Given the description of an element on the screen output the (x, y) to click on. 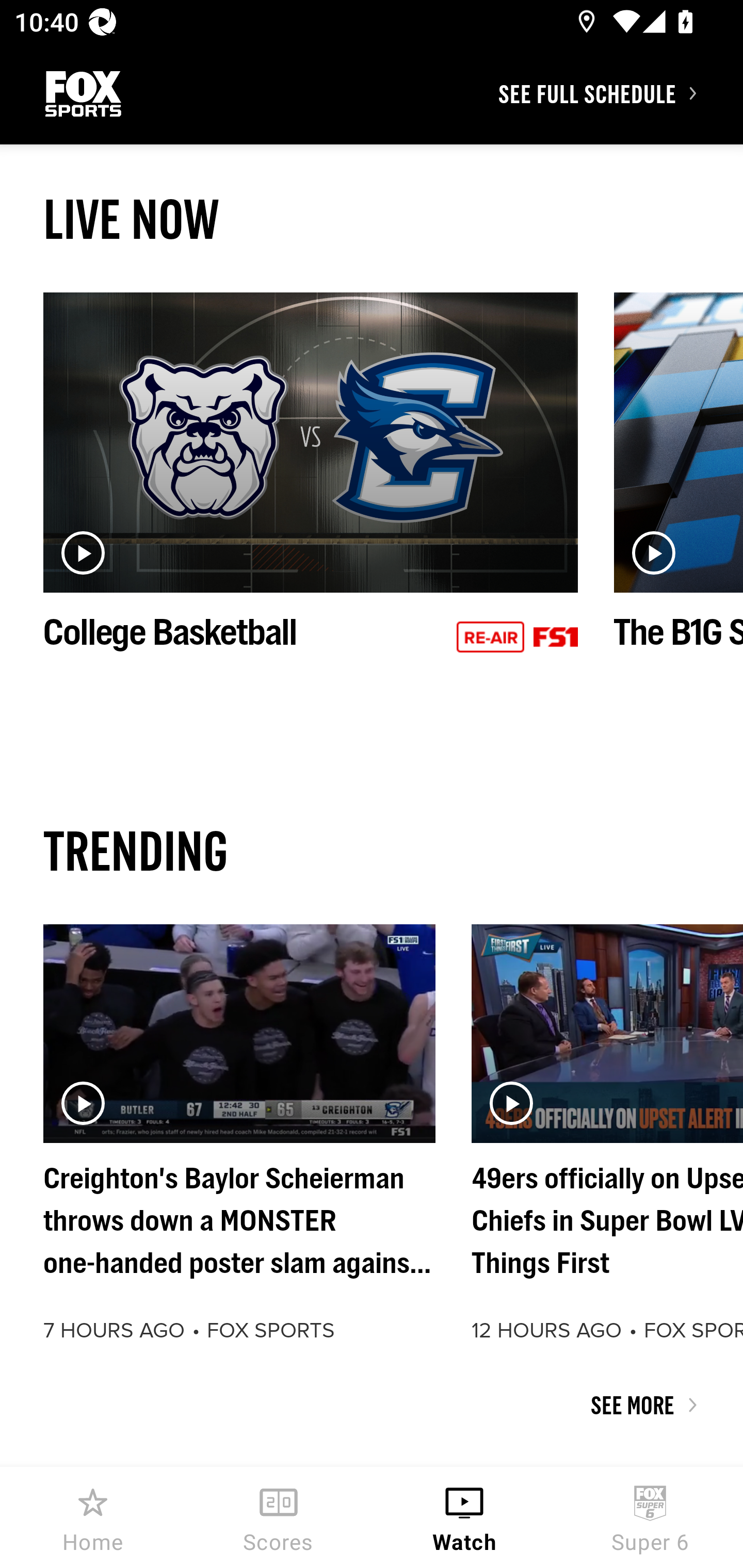
SEE FULL SCHEDULE (620, 93)
LIVE NOW (371, 218)
College Basketball (310, 494)
TRENDING (371, 850)
SEE MORE (371, 1404)
Home (92, 1517)
Scores (278, 1517)
Super 6 (650, 1517)
